Given the description of an element on the screen output the (x, y) to click on. 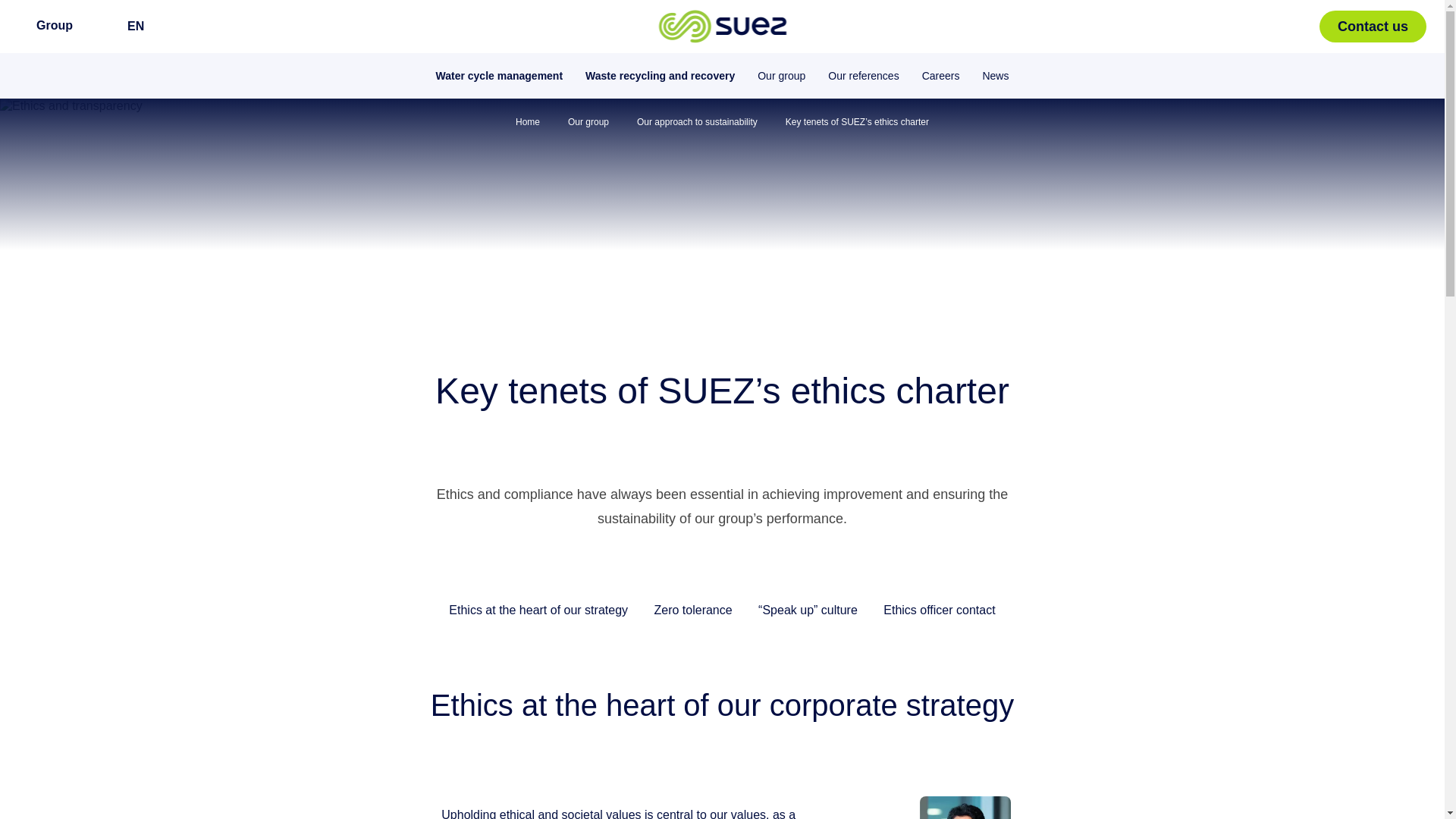
Group (53, 26)
Contact us (1372, 26)
Waste recycling and recovery (660, 75)
Water cycle management (499, 75)
EN (140, 26)
